Given the description of an element on the screen output the (x, y) to click on. 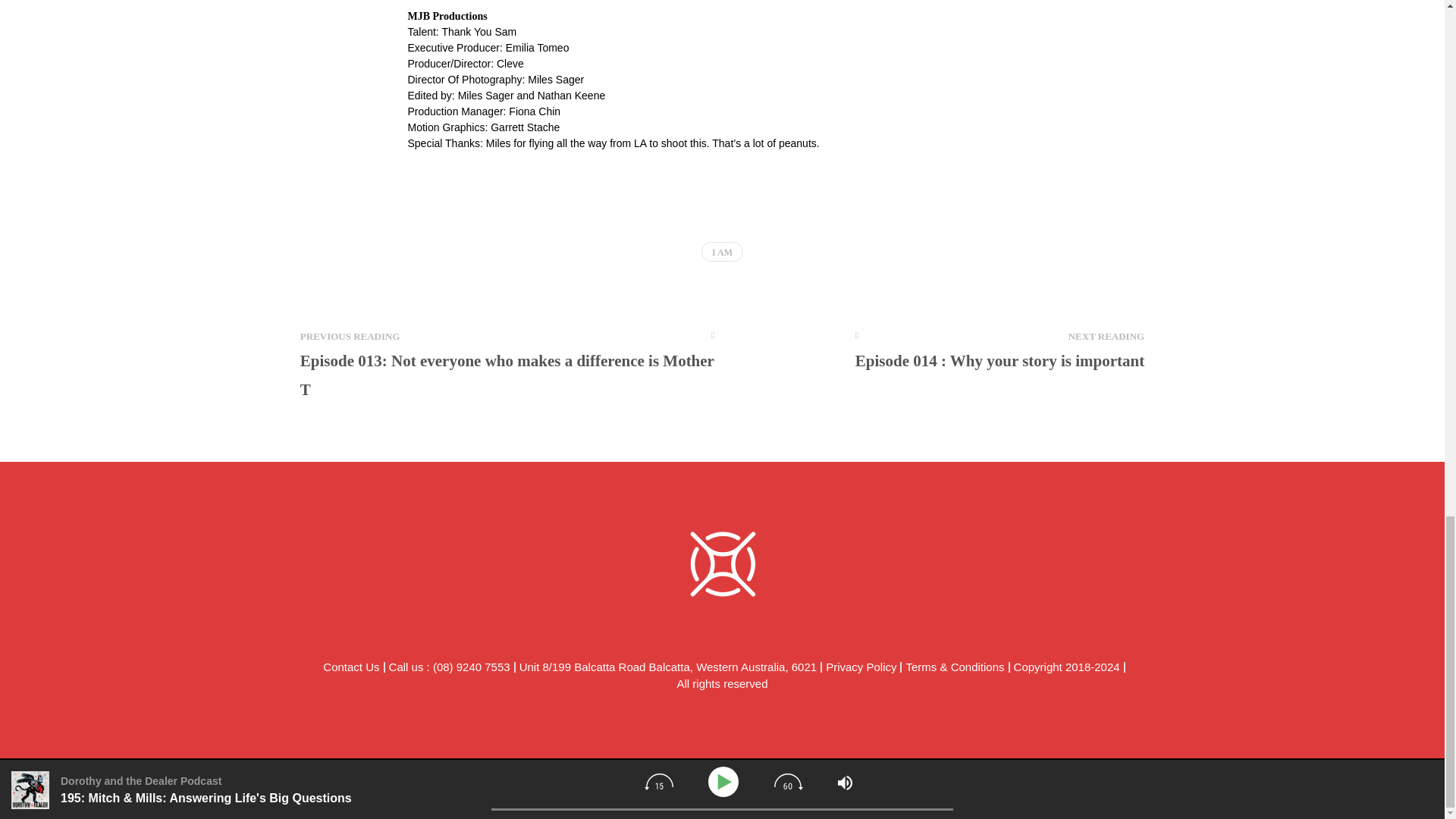
I AM (721, 251)
